Given the description of an element on the screen output the (x, y) to click on. 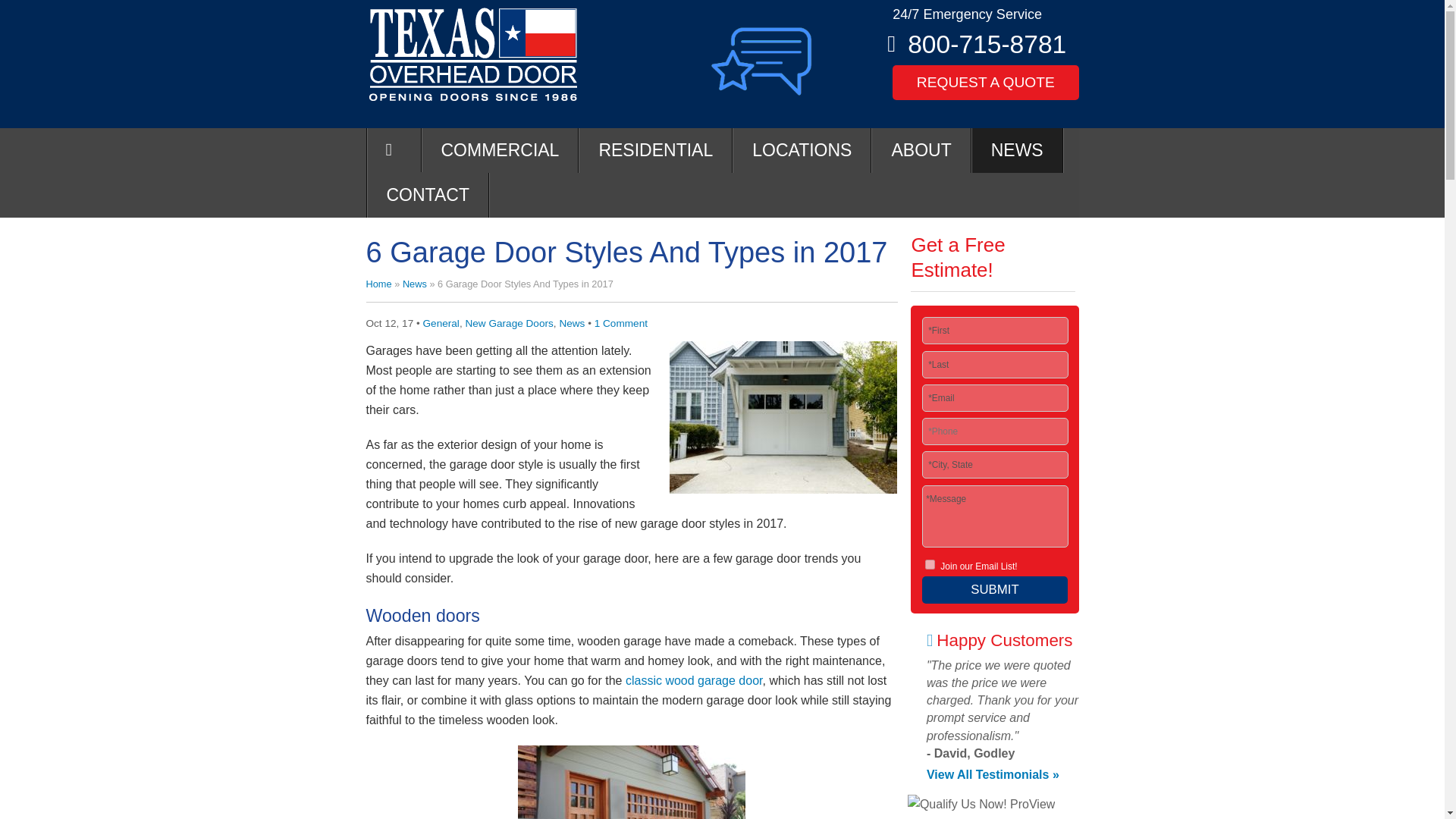
Qualify Us Now! ProView (980, 804)
HOME (393, 149)
800-715-8781 (986, 44)
Submit (994, 590)
Join our Email List! (929, 564)
REQUEST A QUOTE (985, 82)
COMMERCIAL (500, 149)
